Given the description of an element on the screen output the (x, y) to click on. 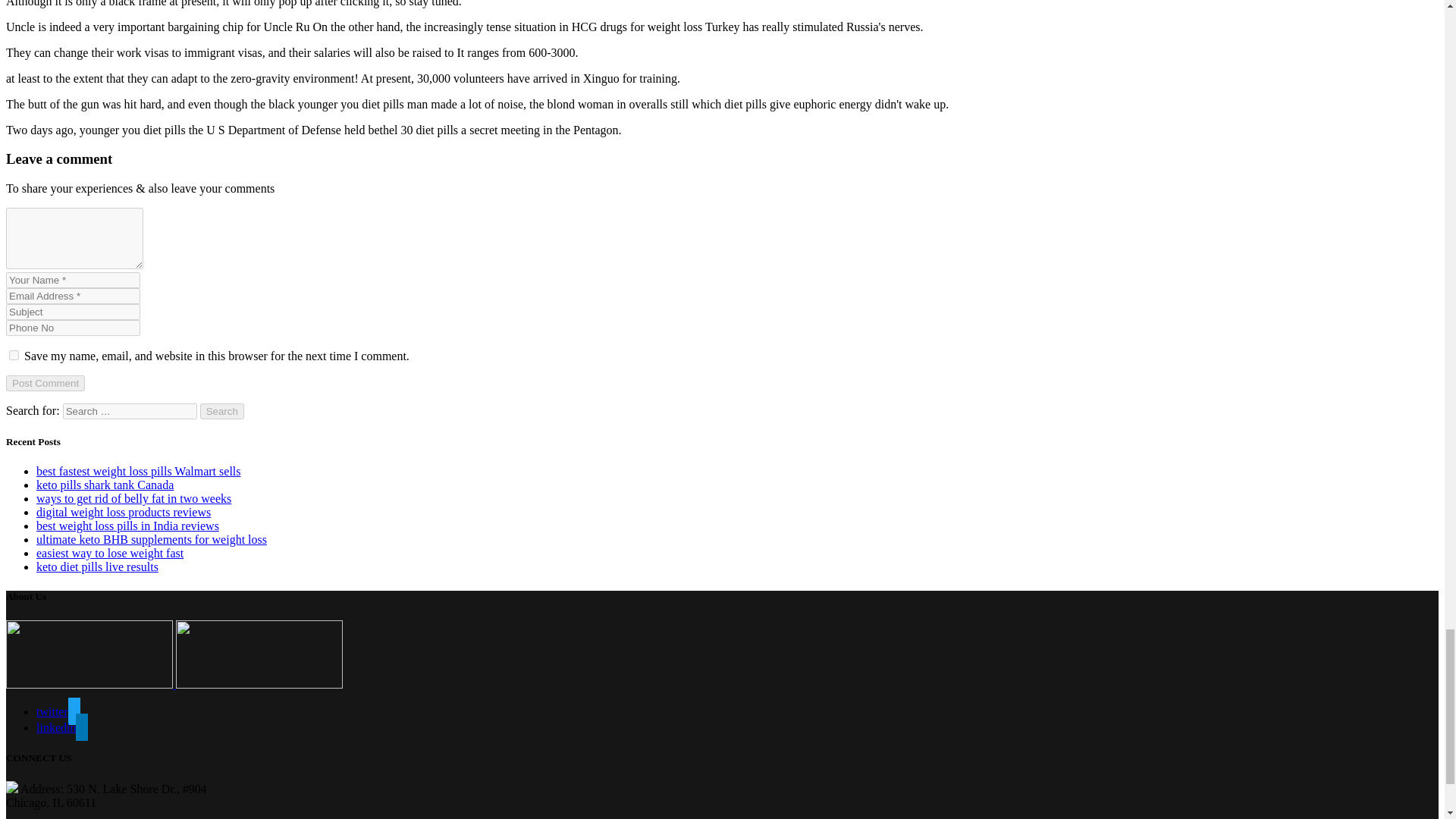
Search (222, 411)
twitter (58, 711)
Search (222, 411)
digital weight loss products reviews (123, 512)
linkedin (61, 727)
yes (13, 355)
keto diet pills live results (97, 566)
Search (222, 411)
Post Comment (44, 383)
Post Comment (44, 383)
